Given the description of an element on the screen output the (x, y) to click on. 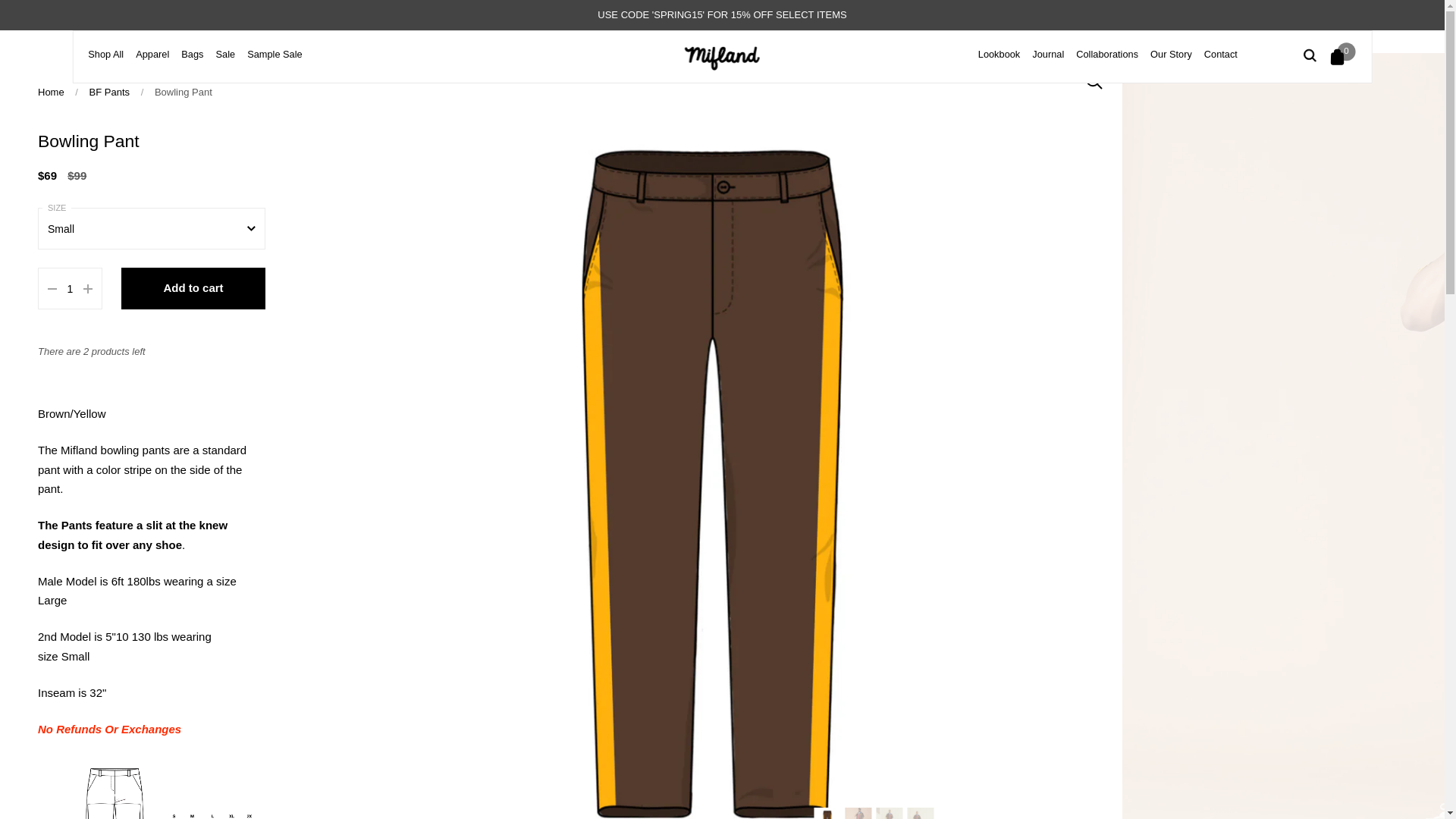
Sale (224, 60)
Journal (1048, 60)
Bags (191, 60)
Apparel (151, 60)
Collaborations (1106, 60)
Contact (1220, 60)
0 (1340, 55)
1 (70, 289)
Lookbook (999, 60)
Our Story (1171, 60)
Sample Sale (274, 60)
Shop All (105, 60)
Shopping Cart (1340, 55)
